Given the description of an element on the screen output the (x, y) to click on. 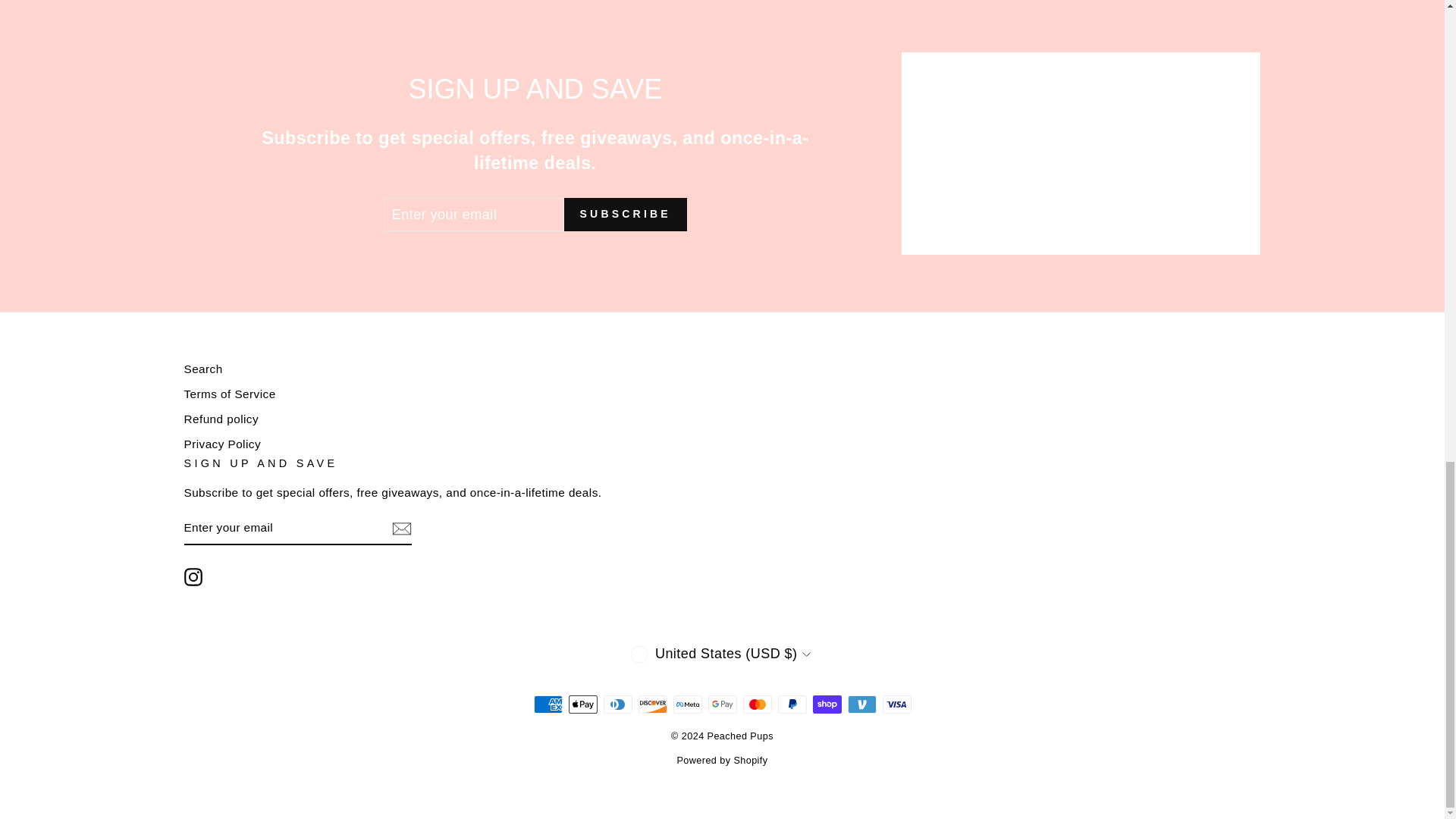
Meta Pay (686, 704)
instagram (192, 577)
Venmo (861, 704)
Apple Pay (582, 704)
PayPal (791, 704)
Peached Pups on Instagram (192, 577)
Discover (652, 704)
Mastercard (756, 704)
American Express (548, 704)
Shop Pay (826, 704)
